Given the description of an element on the screen output the (x, y) to click on. 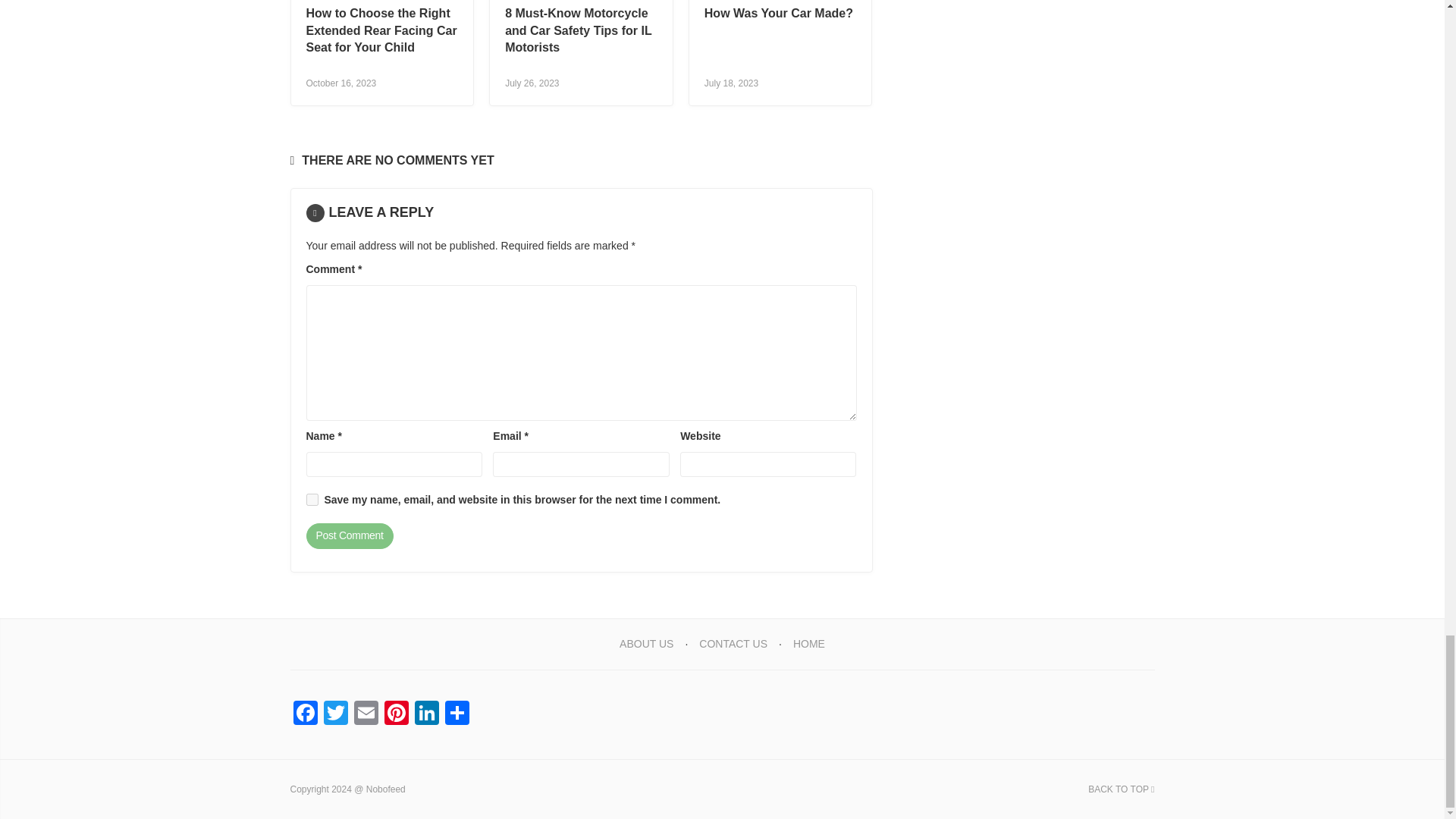
BACK TO TOP  (1120, 789)
Post Comment (349, 535)
yes (311, 499)
